Given the description of an element on the screen output the (x, y) to click on. 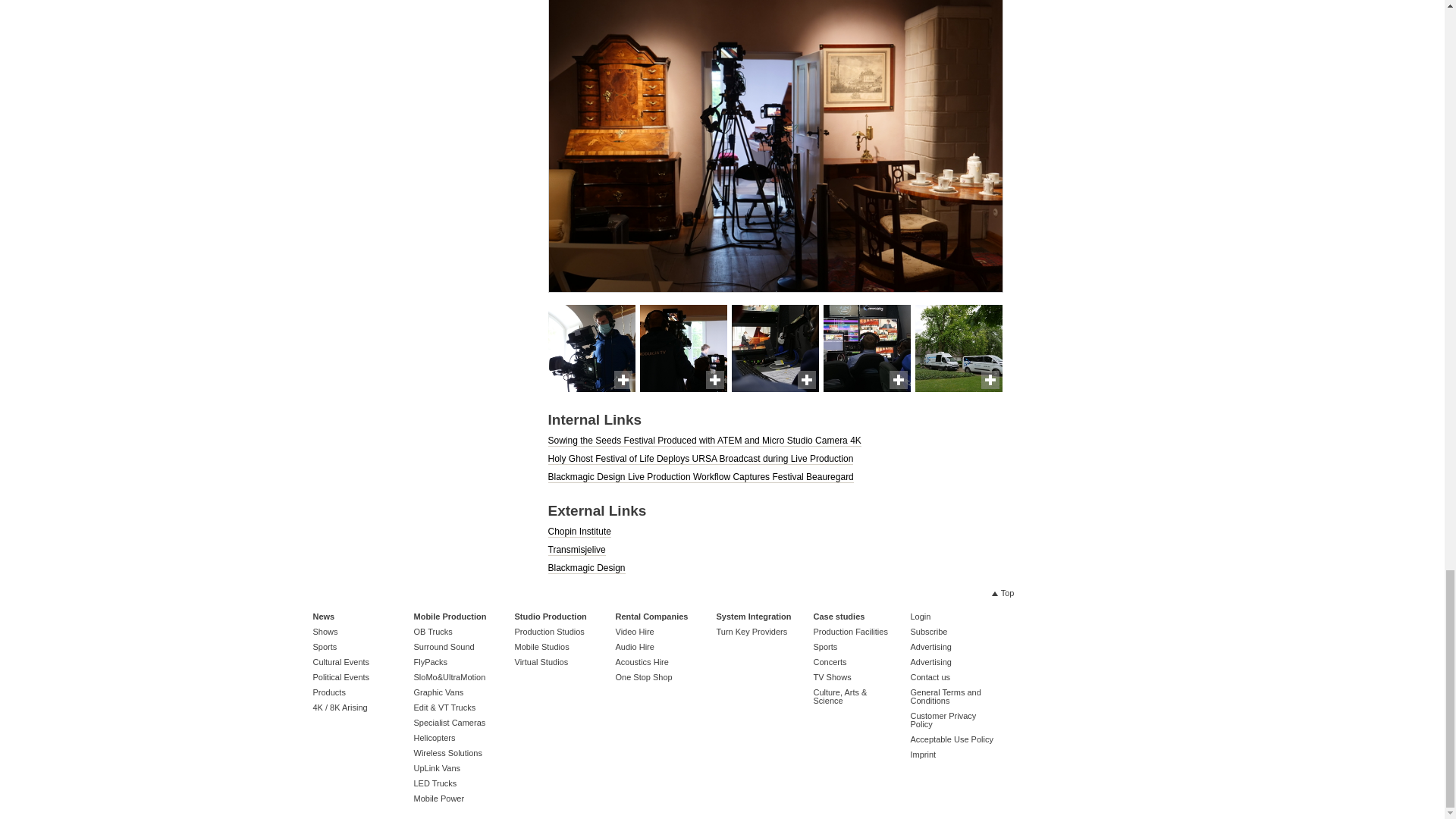
Top (1002, 592)
